Given the description of an element on the screen output the (x, y) to click on. 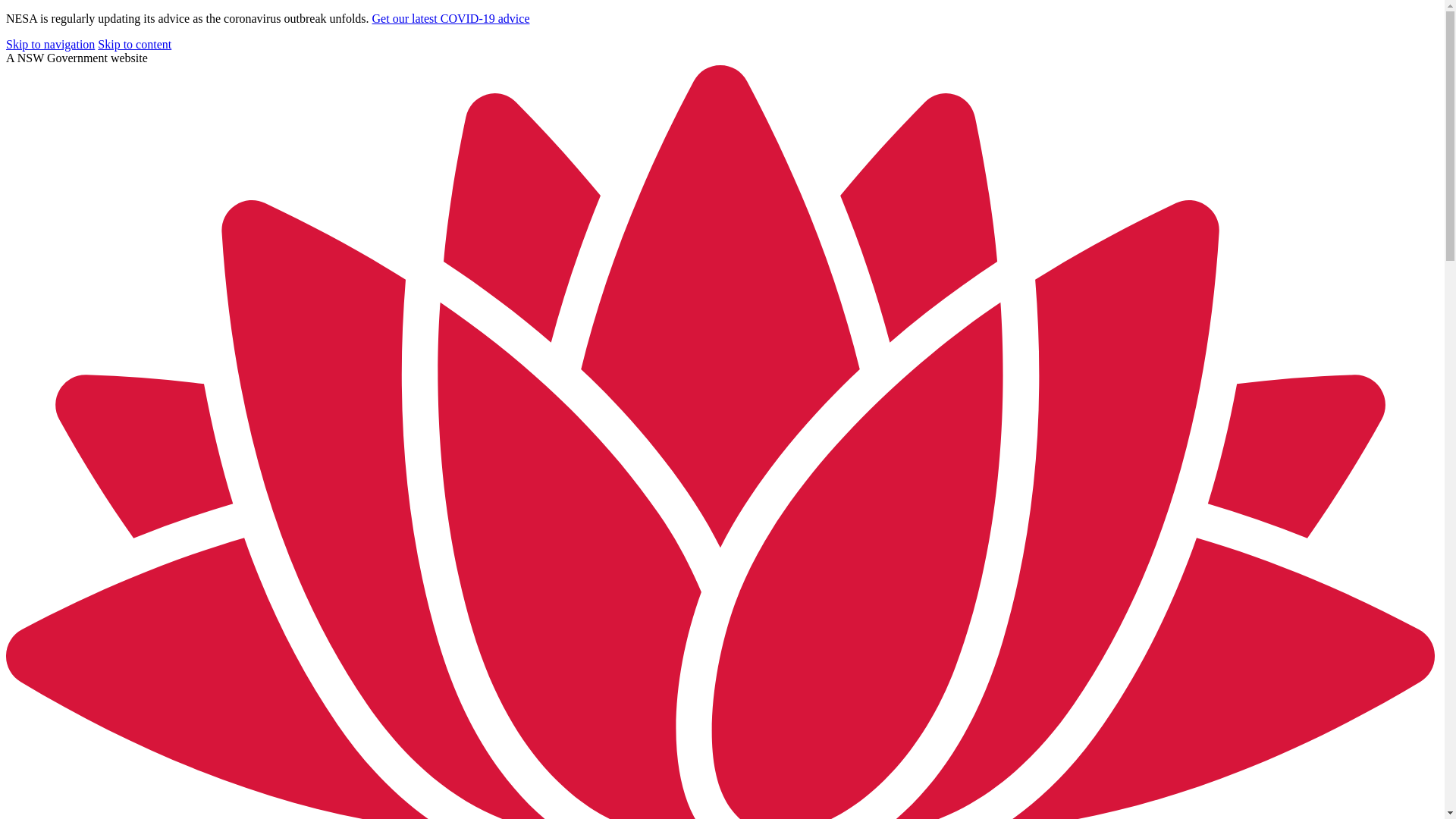
Skip to navigation Element type: text (50, 43)
Get our latest COVID-19 advice Element type: text (451, 18)
Skip to content Element type: text (134, 43)
